Given the description of an element on the screen output the (x, y) to click on. 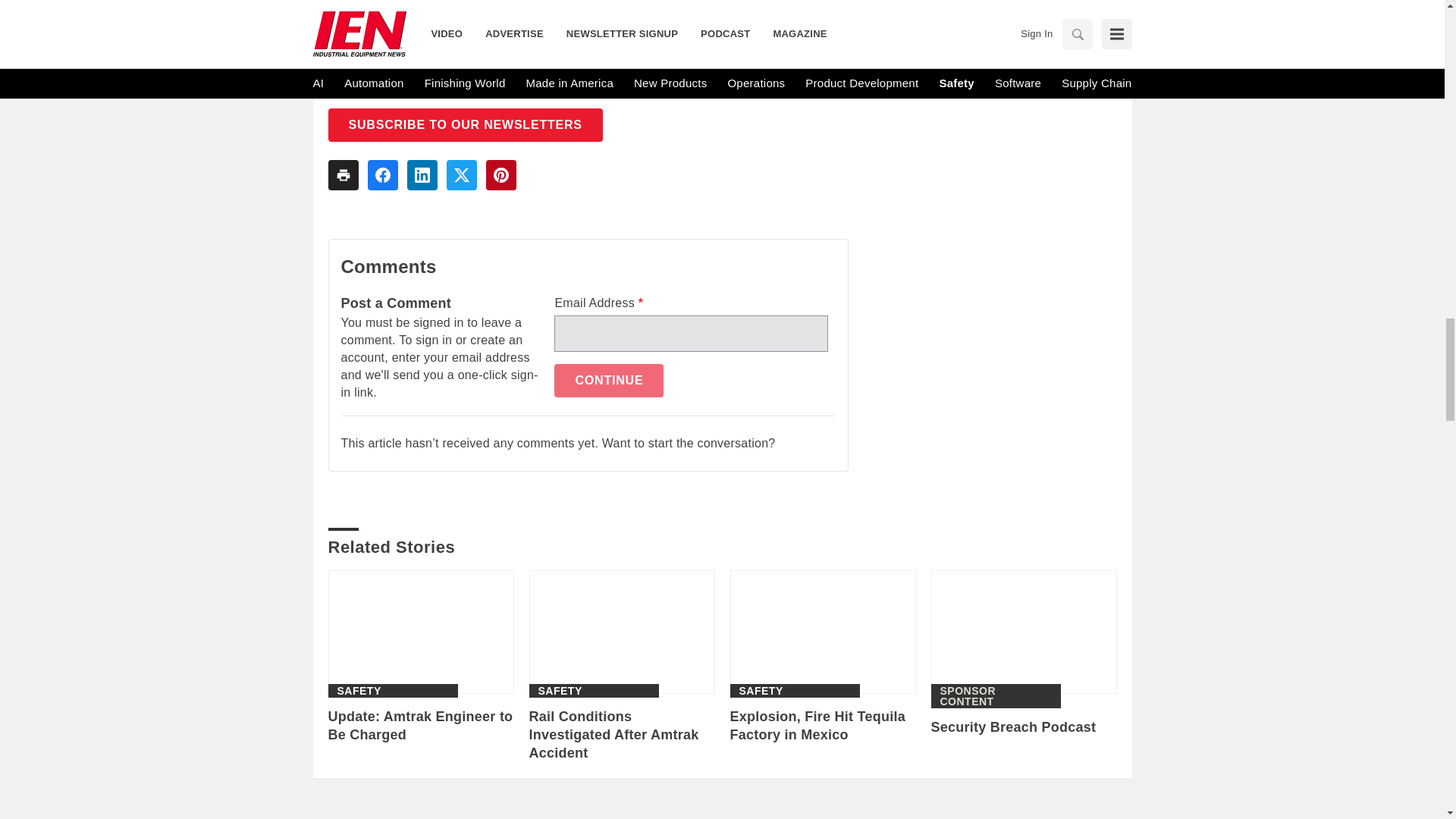
Share To pinterest (499, 174)
Share To linkedin (421, 174)
Share To facebook (381, 174)
Share To twitter (460, 174)
Share To print (342, 174)
